Given the description of an element on the screen output the (x, y) to click on. 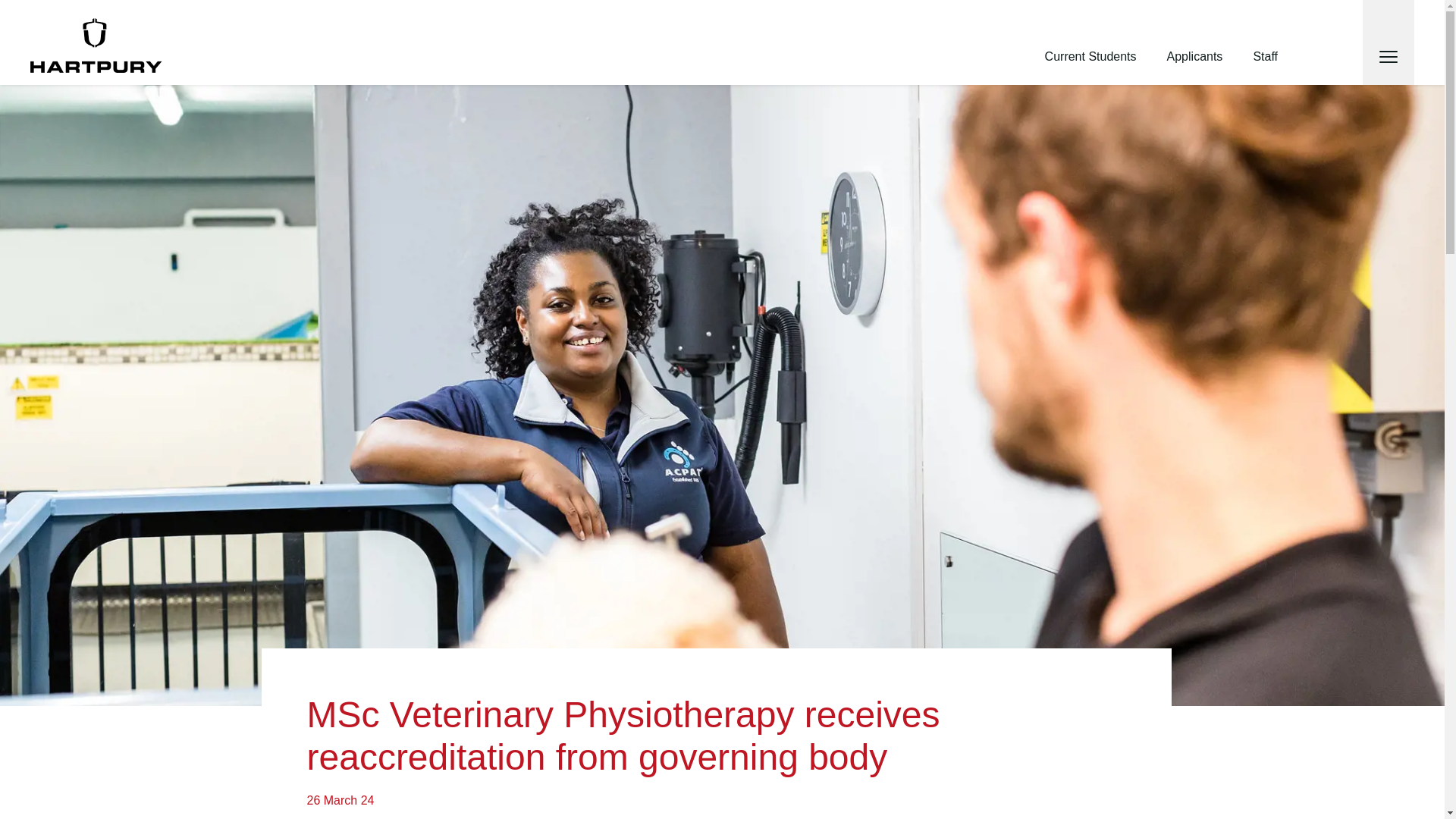
Staff (1265, 56)
Applicants (1195, 56)
Current Students (1091, 56)
